Given the description of an element on the screen output the (x, y) to click on. 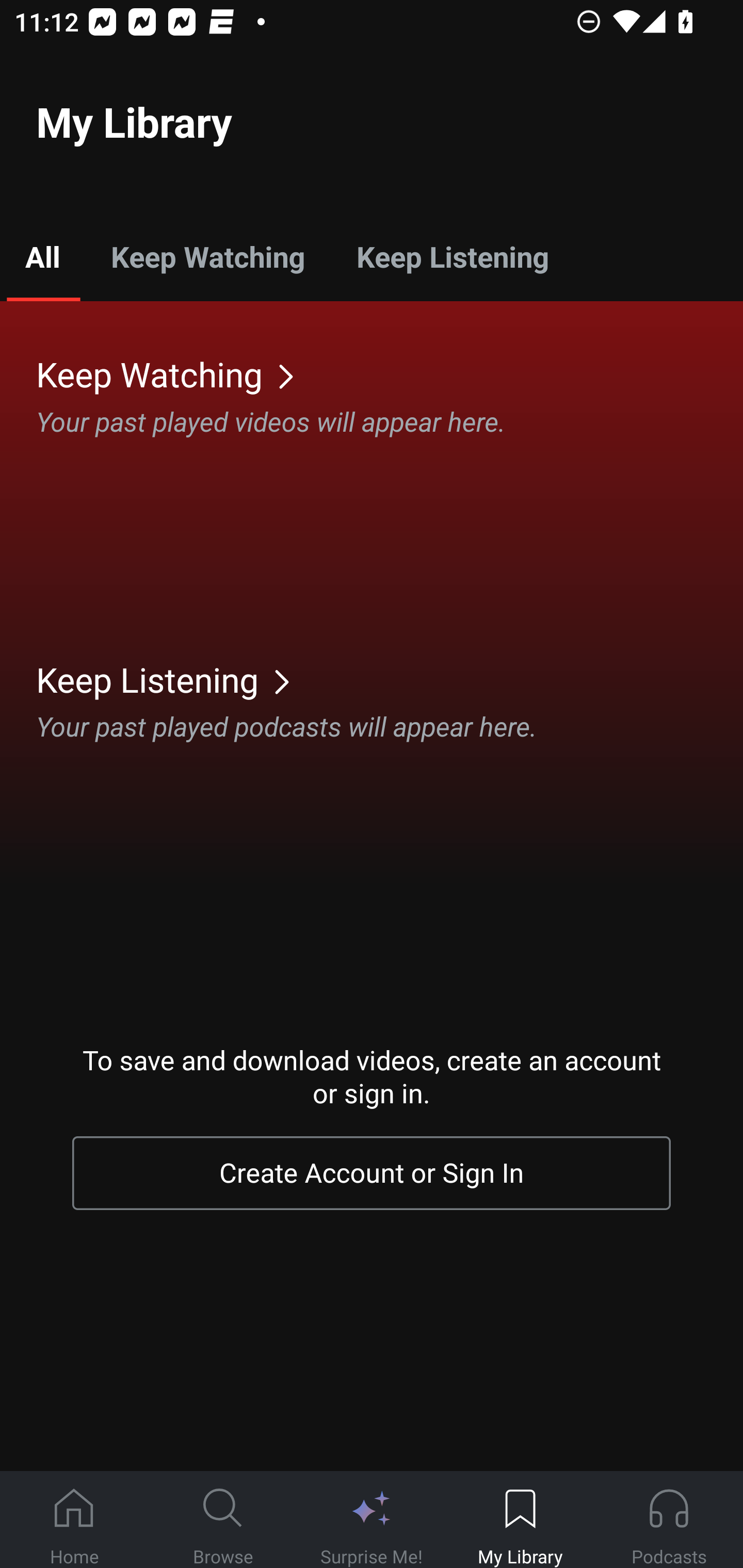
All (42, 256)
Keep Watching (207, 256)
Keep Listening (452, 256)
Keep Watching (389, 373)
Keep Listening (389, 679)
Create Account or Sign In (371, 1173)
Home (74, 1520)
Browse (222, 1520)
Surprise Me! (371, 1520)
My Library (519, 1520)
Podcasts (668, 1520)
